Given the description of an element on the screen output the (x, y) to click on. 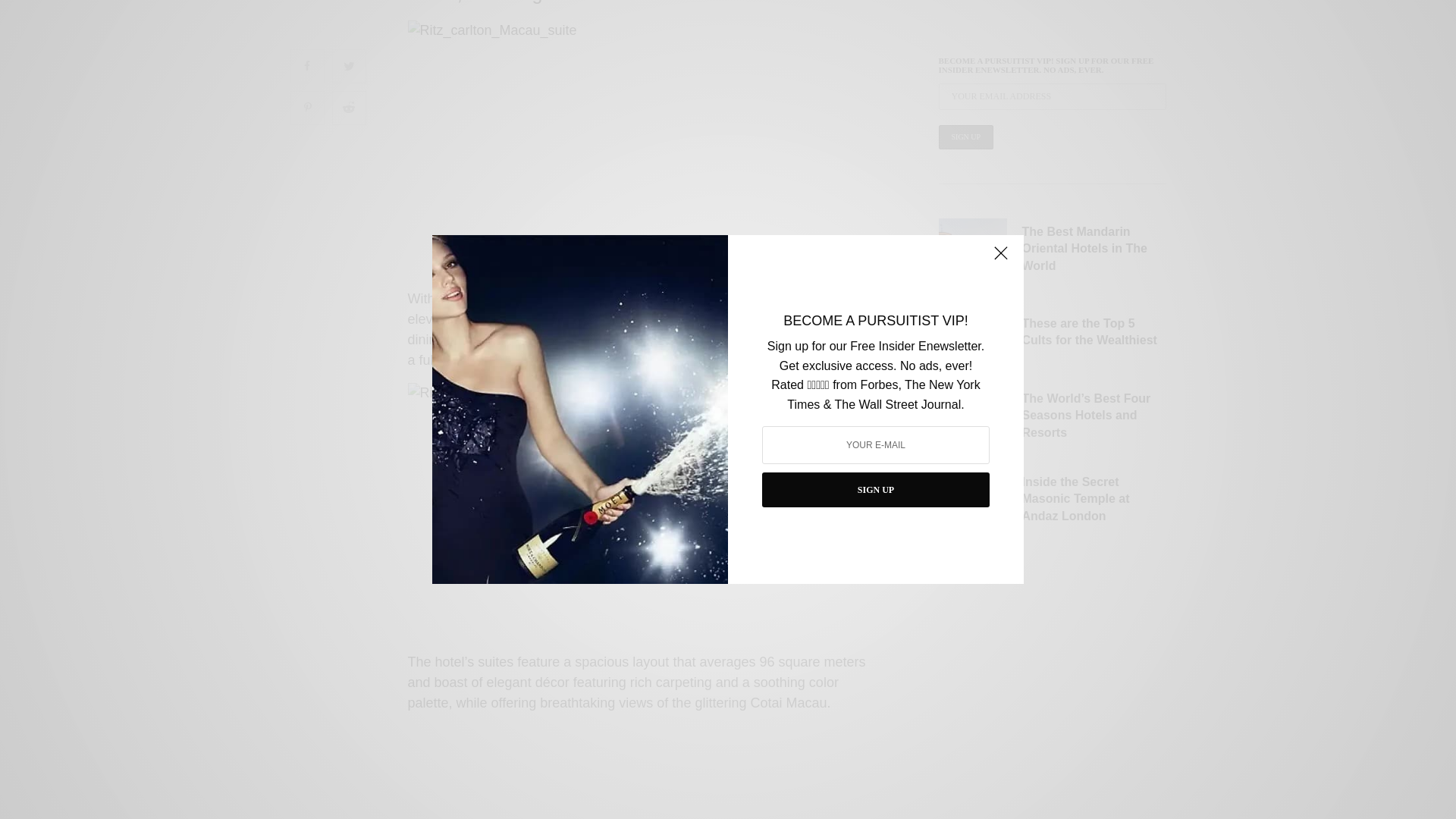
The Best Mandarin Oriental Hotels in The World (1094, 12)
